Given the description of an element on the screen output the (x, y) to click on. 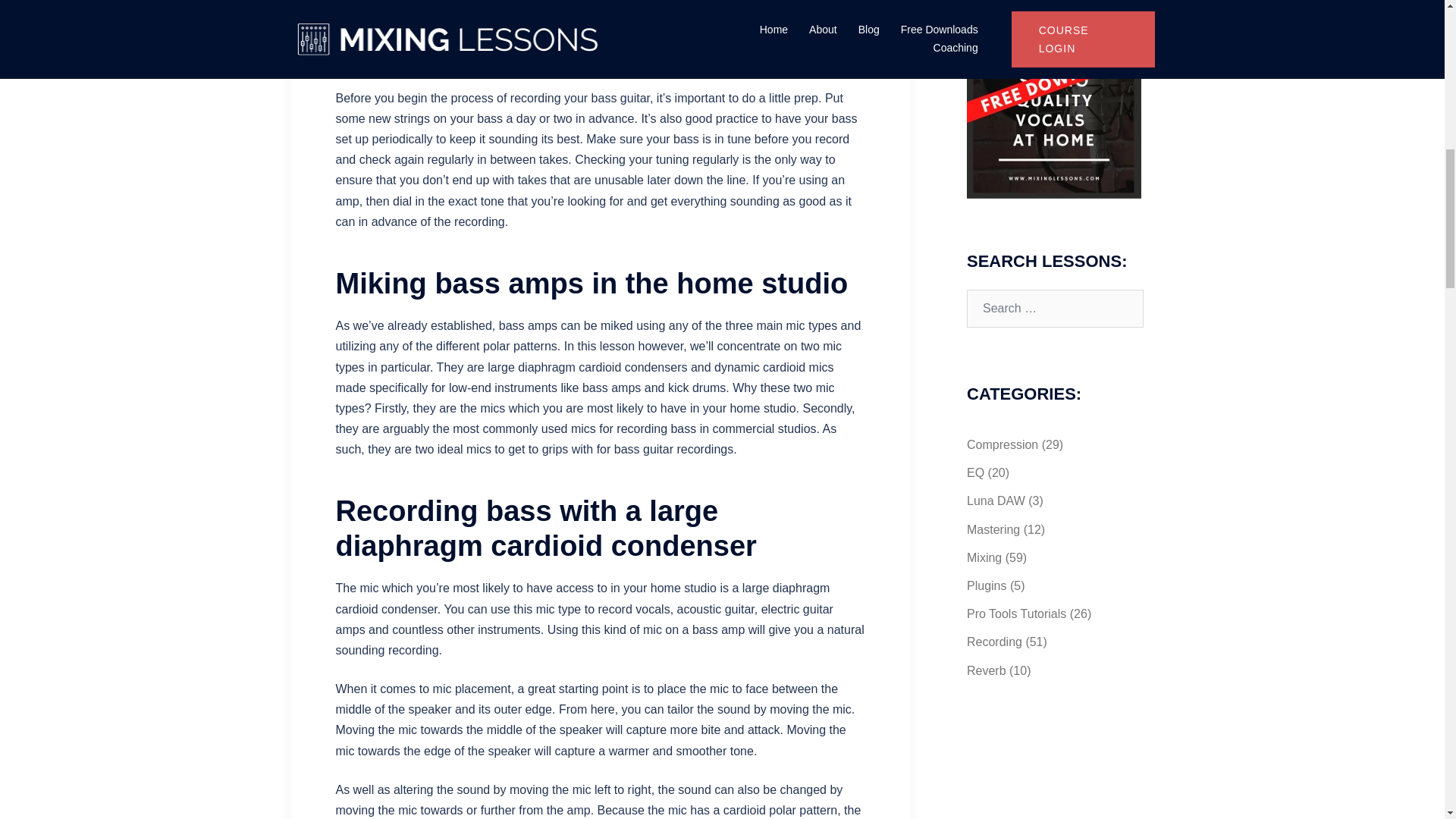
EQ (975, 472)
Luna DAW (995, 500)
Compression (1002, 444)
